Given the description of an element on the screen output the (x, y) to click on. 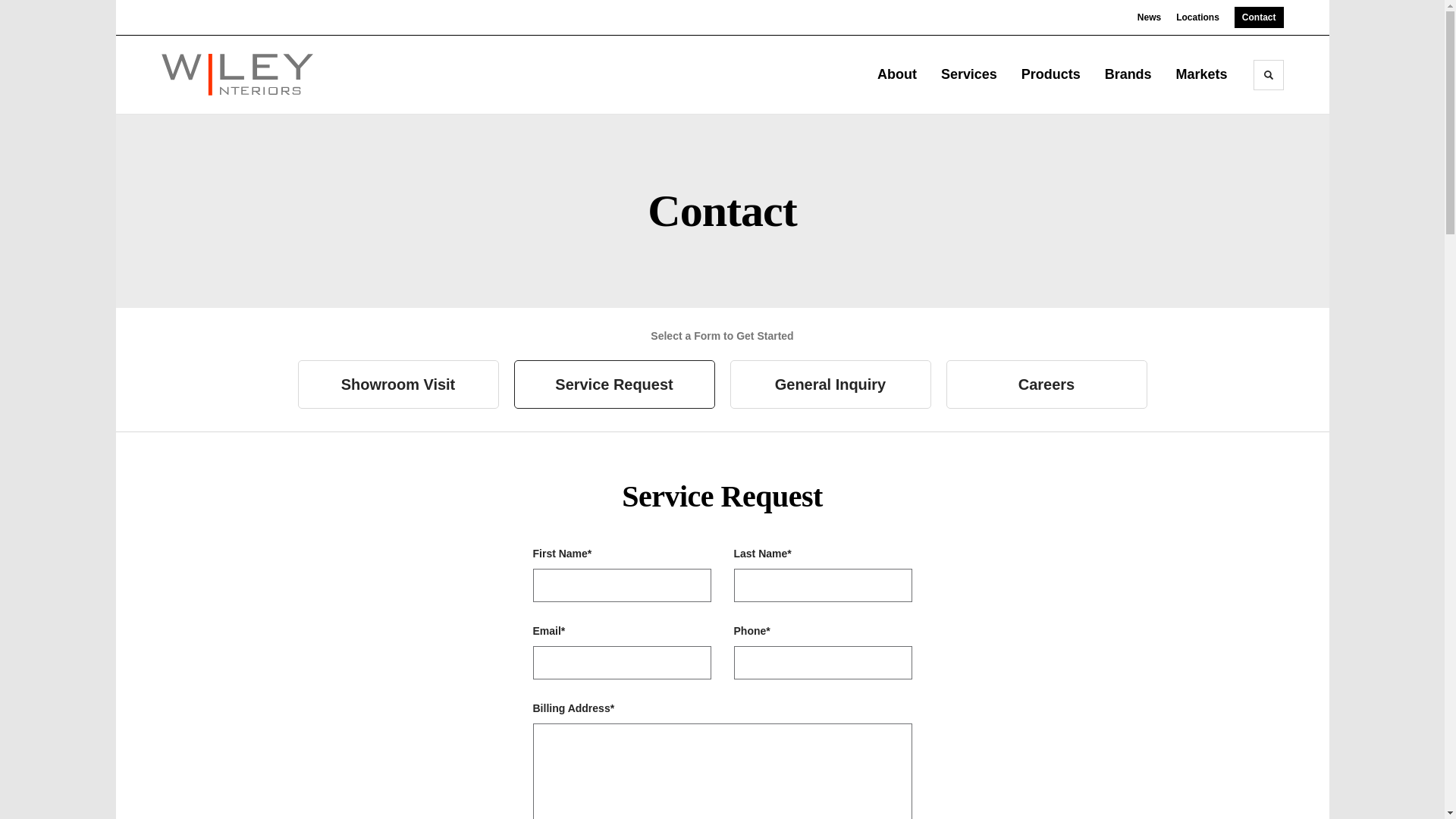
Services (973, 74)
News (1148, 17)
Products (1056, 74)
Contact (1259, 16)
About (902, 74)
Brands (1128, 74)
Markets (1207, 74)
Wiley Interiors (236, 74)
Markets (1207, 74)
